Given the description of an element on the screen output the (x, y) to click on. 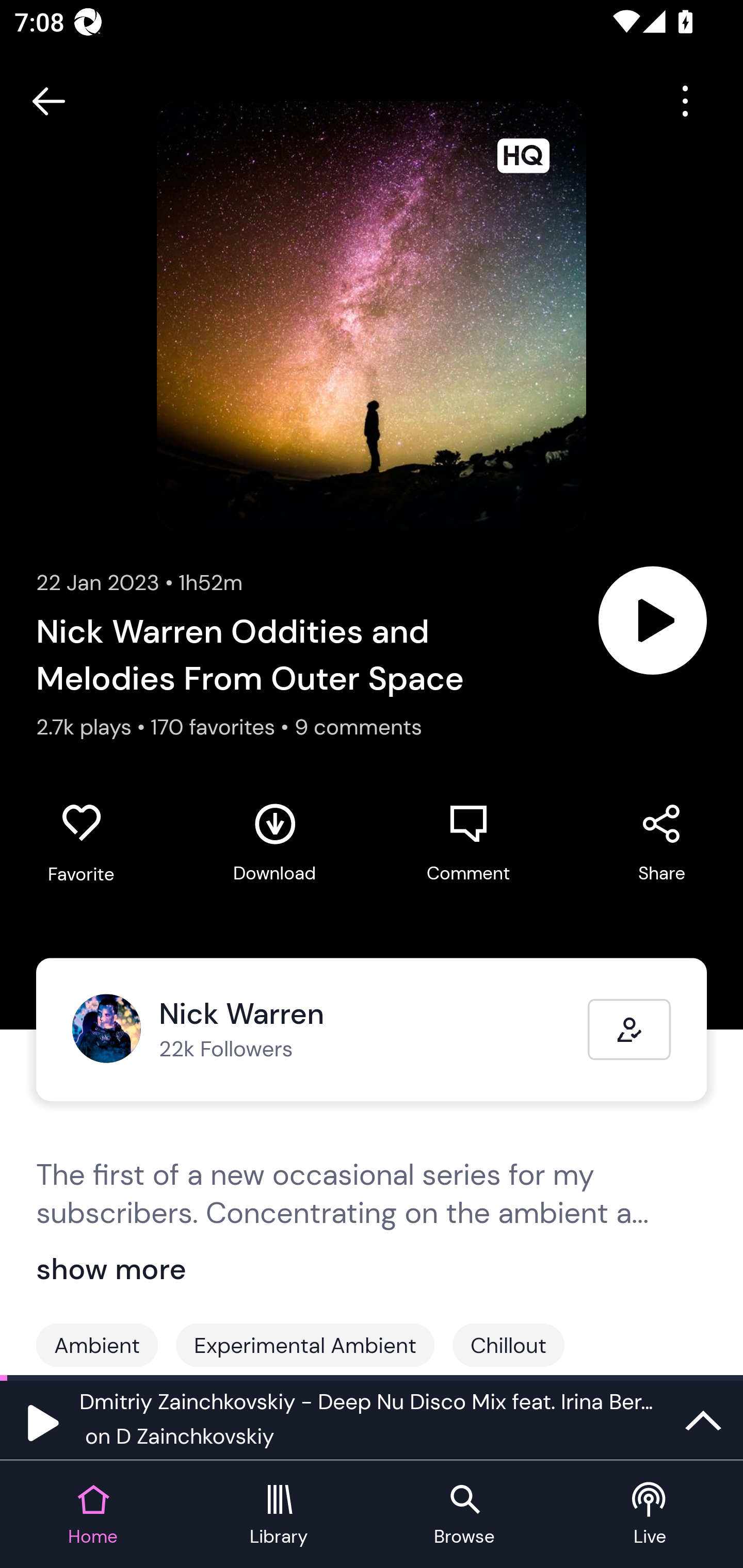
170 favorites •  (222, 726)
9 comments (358, 726)
Favorite (81, 843)
Download (274, 843)
Comment (467, 843)
Share (661, 843)
Following (628, 1028)
Ambient (96, 1345)
Experimental Ambient (305, 1345)
Chillout (508, 1345)
Home tab Home (92, 1515)
Library tab Library (278, 1515)
Browse tab Browse (464, 1515)
Live tab Live (650, 1515)
